Given the description of an element on the screen output the (x, y) to click on. 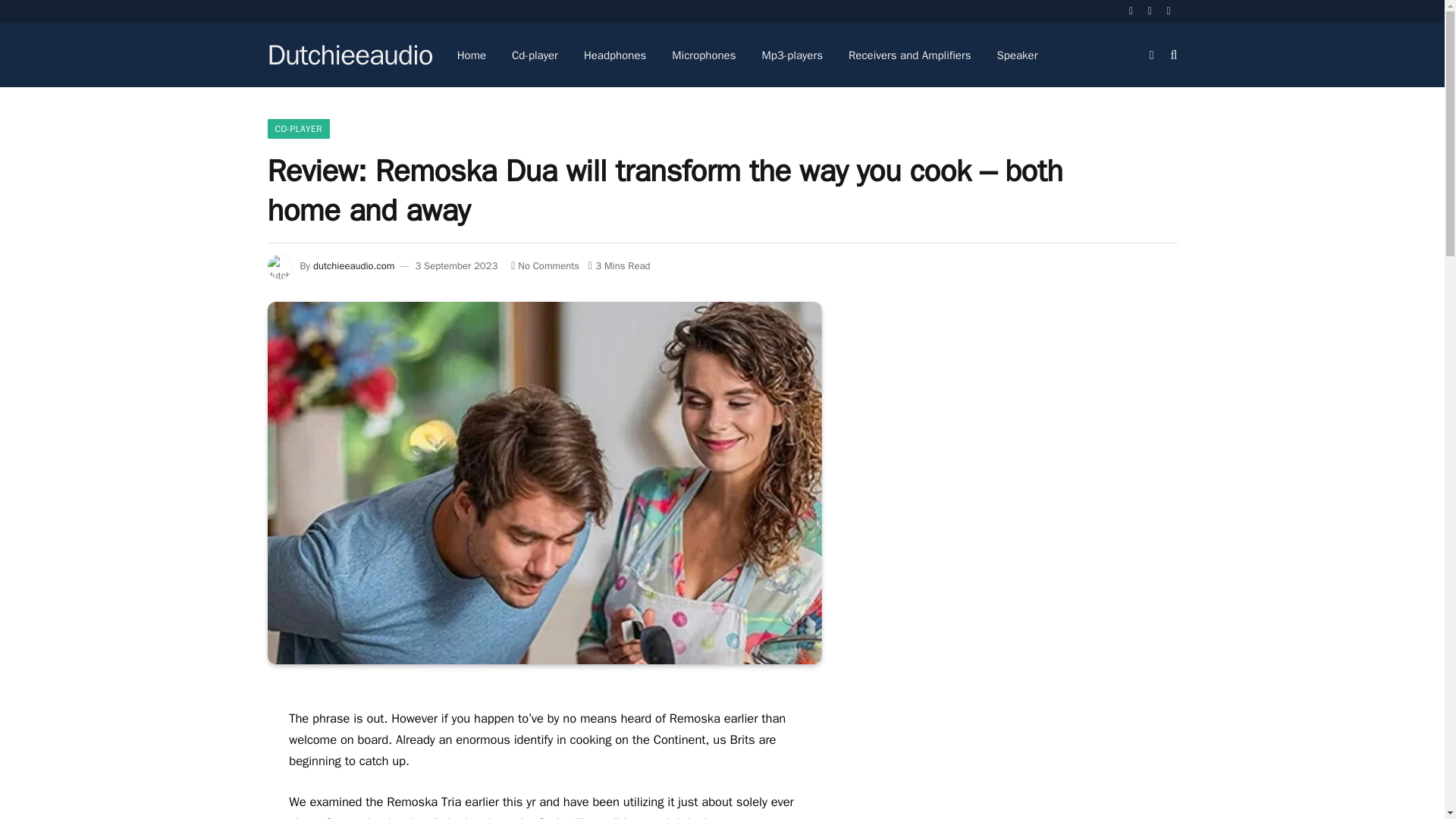
Home (471, 54)
No Comments (545, 265)
Mp3-players (791, 54)
Cd-player (534, 54)
Speaker (1017, 54)
Dutchieeaudio (349, 55)
Dutchieeaudio (349, 55)
CD-PLAYER (297, 128)
dutchieeaudio.com (353, 265)
Instagram (1168, 11)
Microphones (703, 54)
Posts by dutchieeaudio.com (353, 265)
Headphones (614, 54)
Receivers and Amplifiers (909, 54)
